Given the description of an element on the screen output the (x, y) to click on. 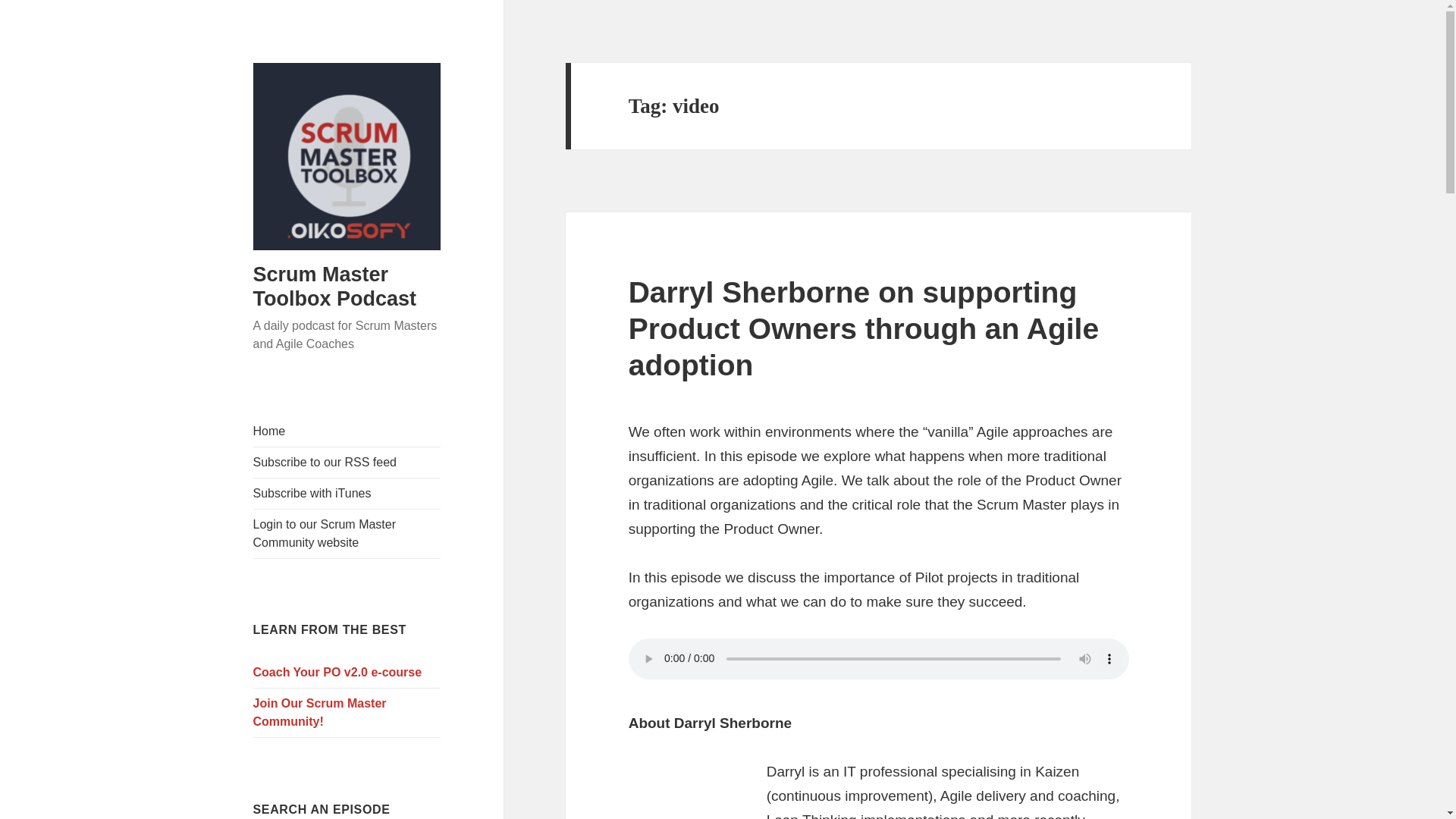
Home (347, 431)
Coach Your PO v2.0 e-course (347, 672)
Join Our Scrum Master Community! (347, 712)
Login to our Scrum Master Community website (347, 533)
Scrum Master Toolbox Podcast (334, 286)
Subscribe with iTunes (347, 493)
Subscribe to our RSS feed (347, 462)
